Given the description of an element on the screen output the (x, y) to click on. 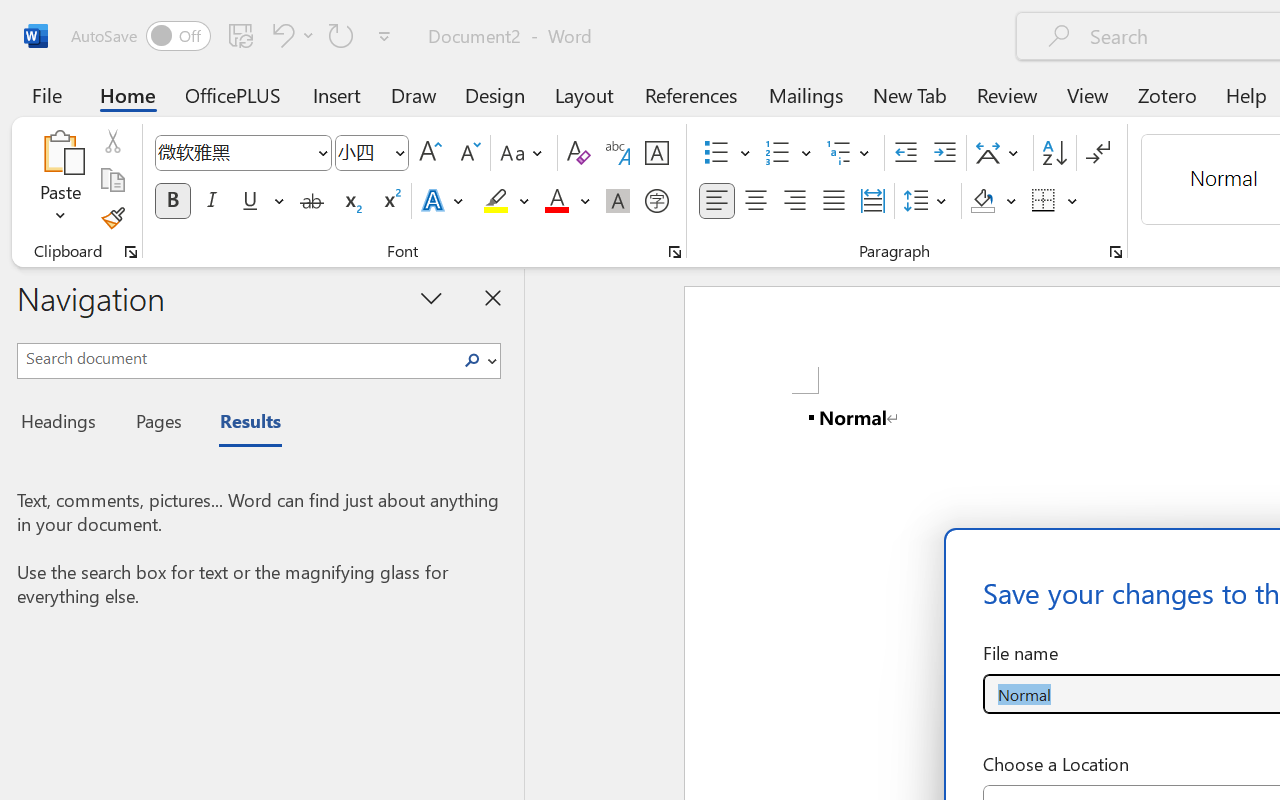
Headings (64, 424)
Underline (250, 201)
Font (242, 153)
Paste (60, 179)
Superscript (390, 201)
Italic (212, 201)
Underline (261, 201)
Zotero (1166, 94)
Increase Indent (944, 153)
Decrease Indent (906, 153)
Mailings (806, 94)
Review (1007, 94)
References (690, 94)
